Given the description of an element on the screen output the (x, y) to click on. 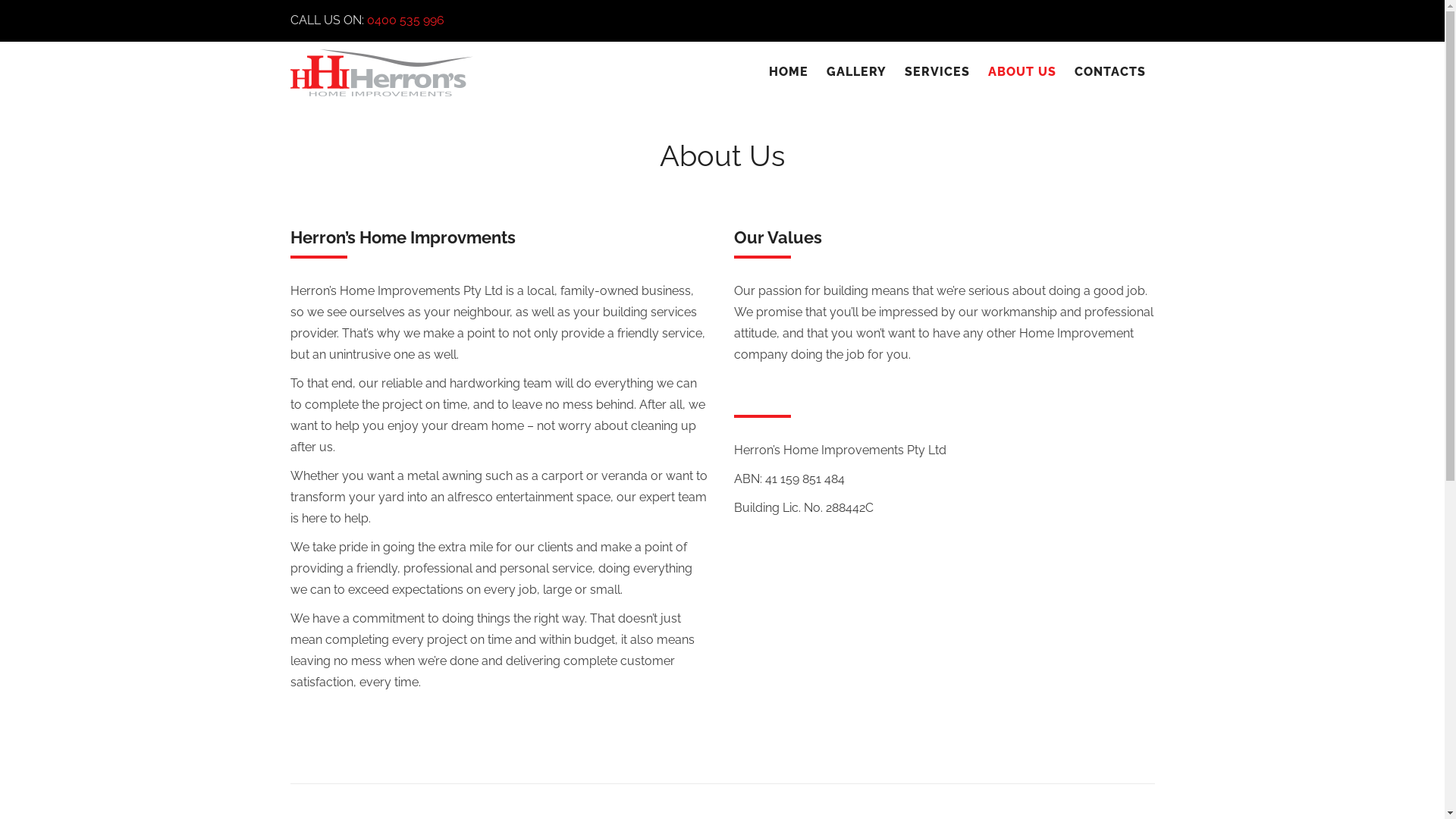
CONTACTS Element type: text (1109, 71)
HOME Element type: text (788, 71)
GALLERY Element type: text (856, 71)
0400 535 996 Element type: text (405, 19)
ABOUT US Element type: text (1021, 71)
SERVICES Element type: text (936, 71)
